Given the description of an element on the screen output the (x, y) to click on. 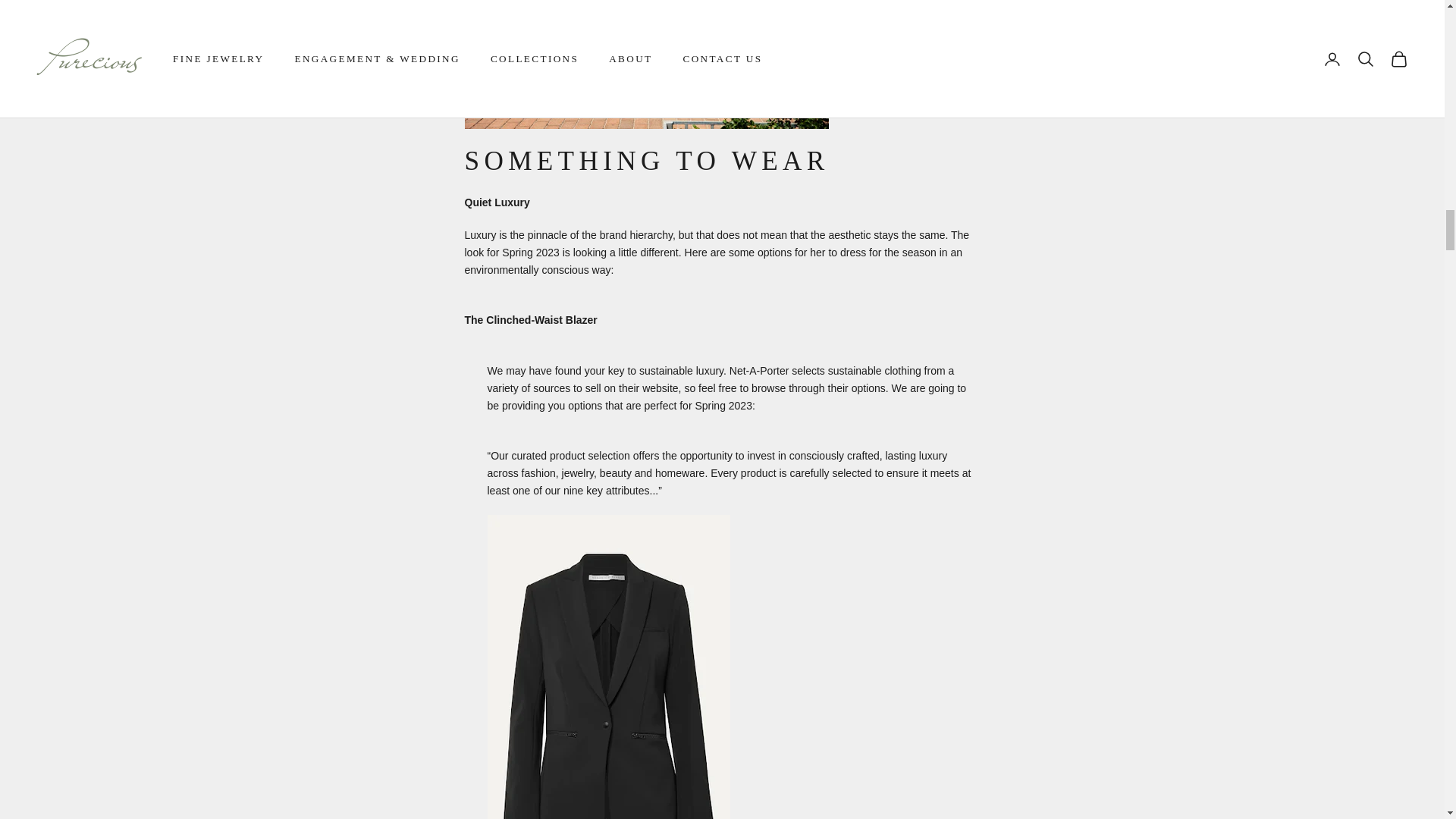
Gita Mini Cargo Robot (646, 20)
Stretch Crepe Blazer (607, 695)
